Given the description of an element on the screen output the (x, y) to click on. 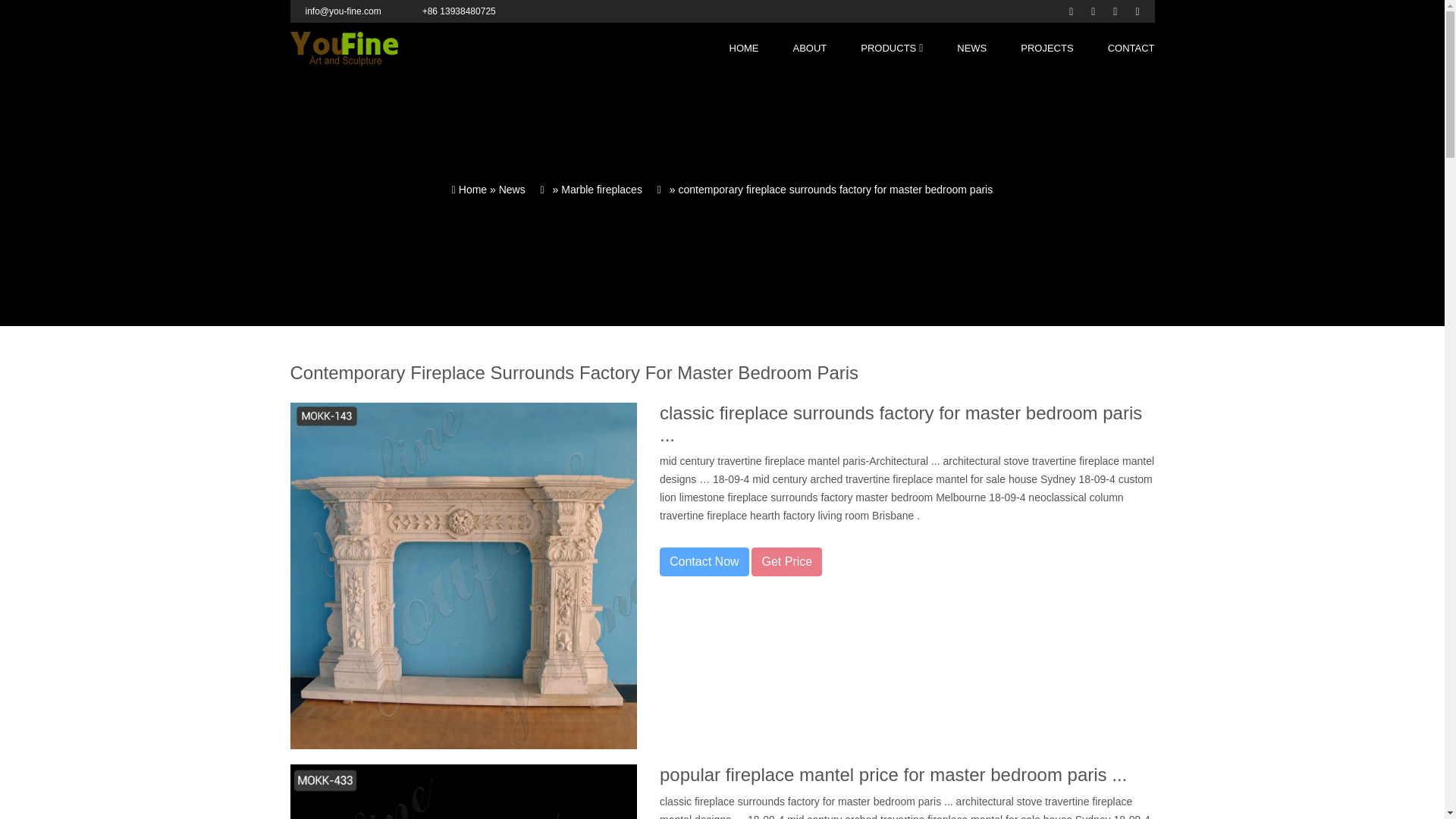
PRODUCTS (887, 48)
Contact Now (704, 561)
PROJECTS (1046, 48)
CONTACT (1131, 48)
News (512, 189)
Marble fireplaces (601, 189)
Get Price (786, 561)
